Given the description of an element on the screen output the (x, y) to click on. 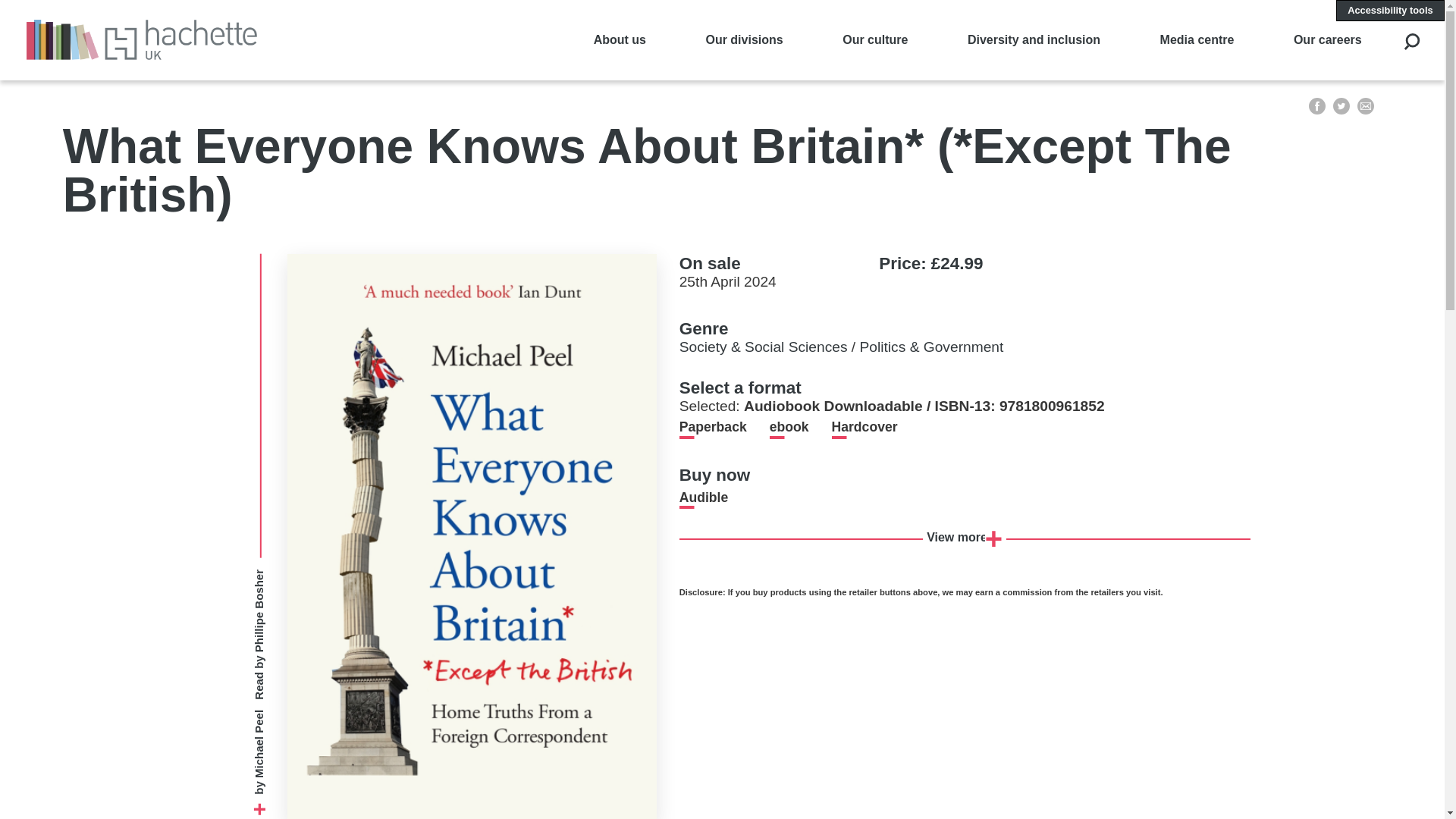
ebook (789, 426)
Our divisions (743, 39)
Diversity and inclusion (1034, 39)
About us (620, 39)
Paperback (712, 426)
Media centre (1197, 39)
Our careers (1327, 39)
Hardcover (864, 426)
Our culture (875, 39)
